Given the description of an element on the screen output the (x, y) to click on. 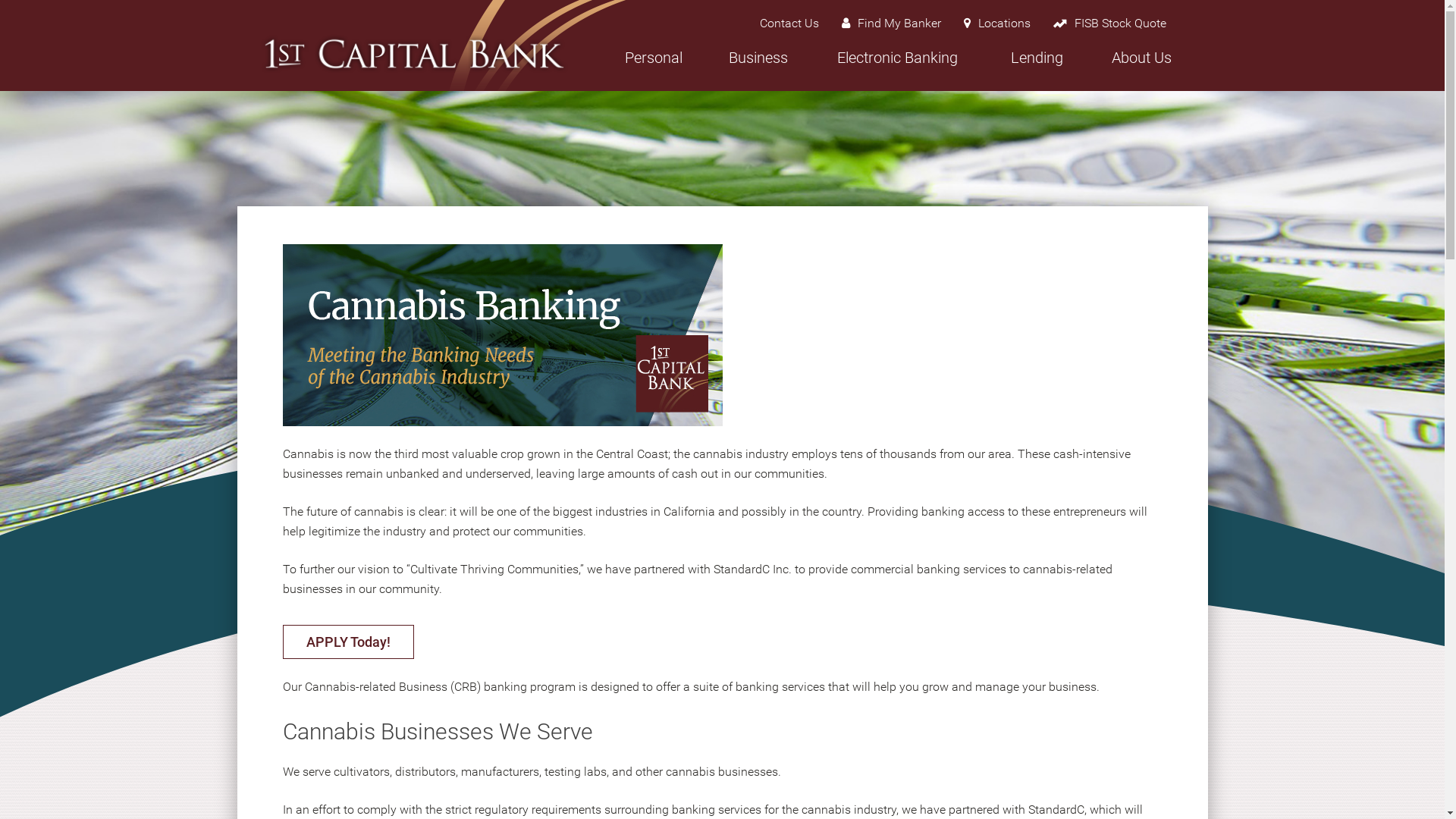
Find My Banker Element type: text (890, 23)
Business Element type: text (757, 66)
Locations Element type: text (996, 23)
Lending Element type: text (1036, 66)
Personal Element type: text (652, 66)
APPLY Today! Element type: text (347, 641)
Electronic Banking Element type: text (896, 66)
FISB Stock Quote Element type: text (1109, 23)
Cannabis Banking Element type: hover (501, 335)
1st Capital Bank Logo Element type: hover (413, 53)
Contact Us Element type: text (788, 23)
About Us Element type: text (1140, 66)
